Given the description of an element on the screen output the (x, y) to click on. 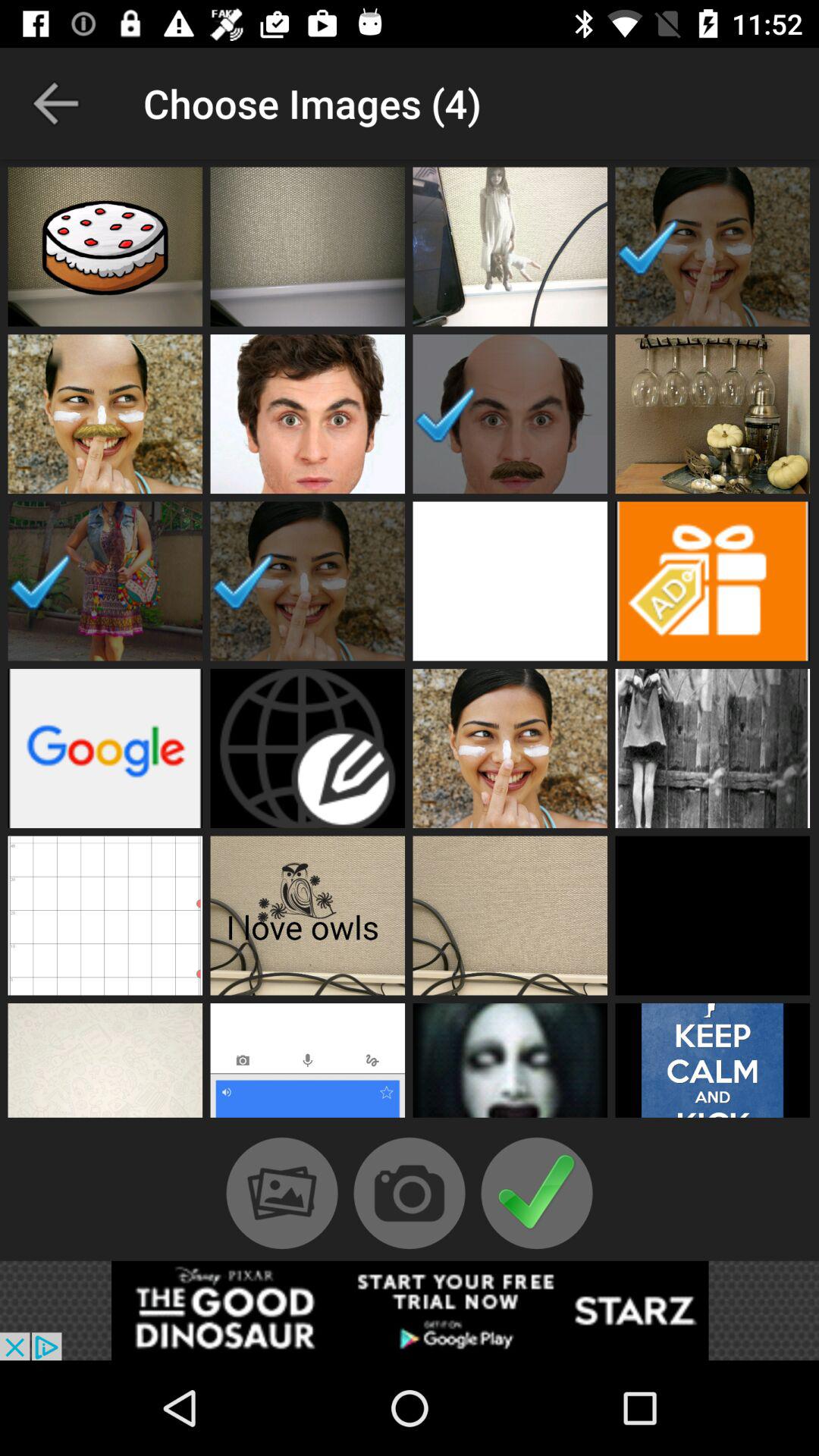
unselect image (104, 580)
